Given the description of an element on the screen output the (x, y) to click on. 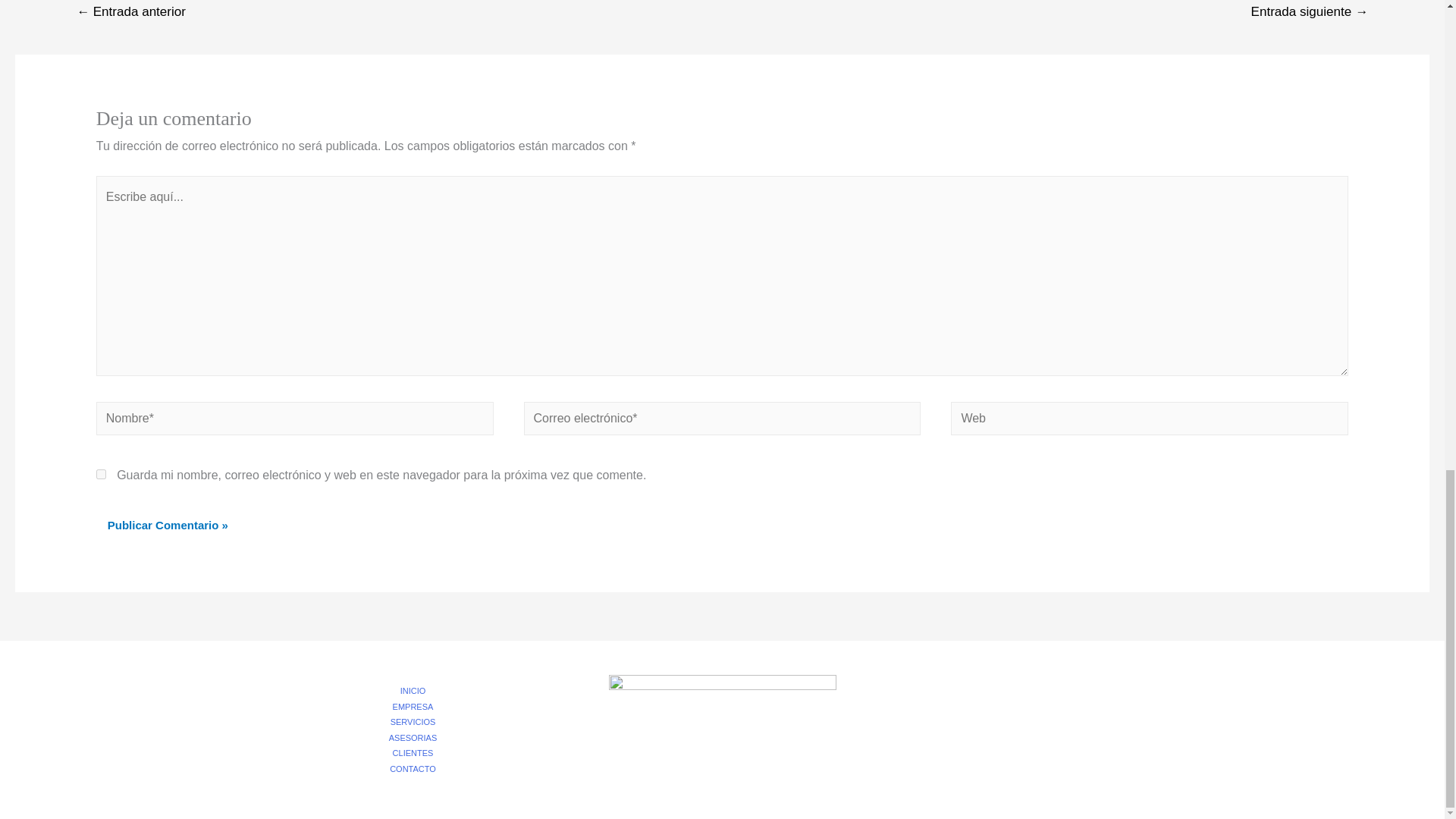
ASESORIAS (418, 737)
EMPRESA (419, 706)
INICIO (419, 690)
CONTACTO (419, 767)
yes (101, 474)
CLIENTES (419, 752)
SERVICIOS (419, 721)
